Given the description of an element on the screen output the (x, y) to click on. 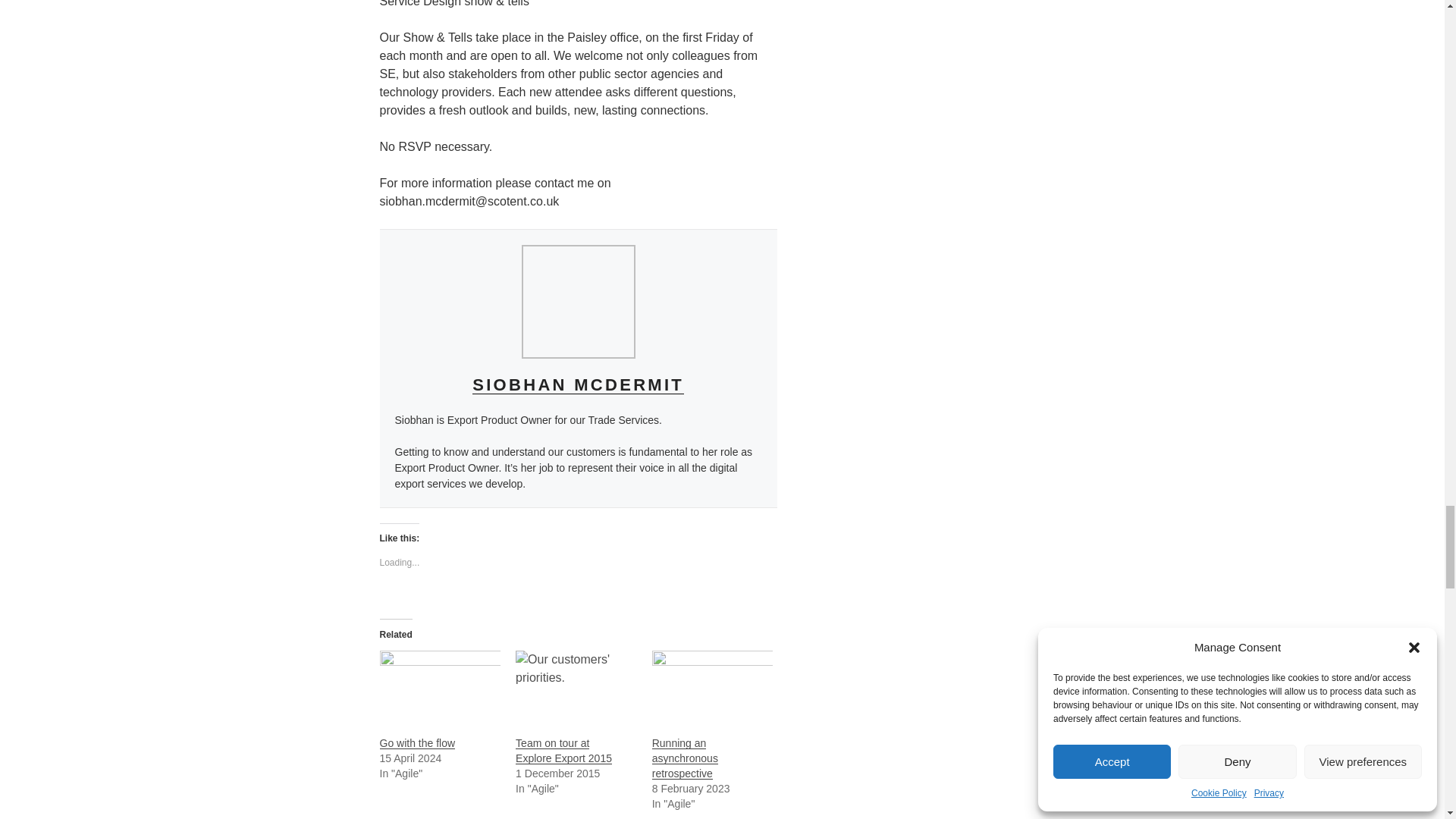
Team on tour at Explore Export 2015 (563, 750)
Team on tour at Explore Export 2015 (563, 750)
Team on tour at Explore Export 2015 (576, 684)
Go with the flow (416, 743)
SIOBHAN MCDERMIT (577, 384)
Go with the flow (416, 743)
Running an asynchronous retrospective (712, 684)
Running an asynchronous retrospective (684, 758)
Running an asynchronous retrospective (684, 758)
Go with the flow (439, 684)
